Given the description of an element on the screen output the (x, y) to click on. 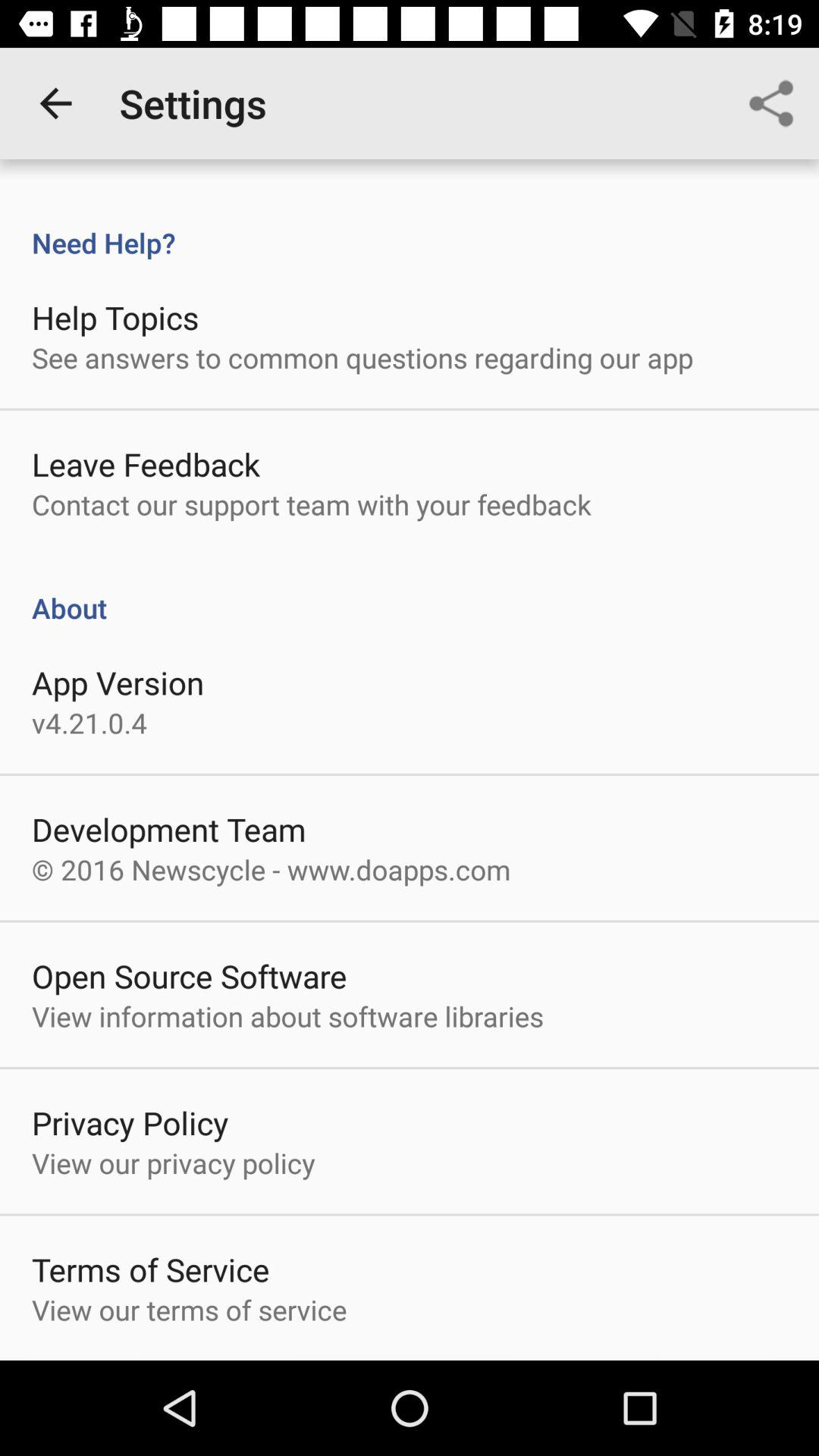
turn on the item to the left of settings (55, 103)
